Given the description of an element on the screen output the (x, y) to click on. 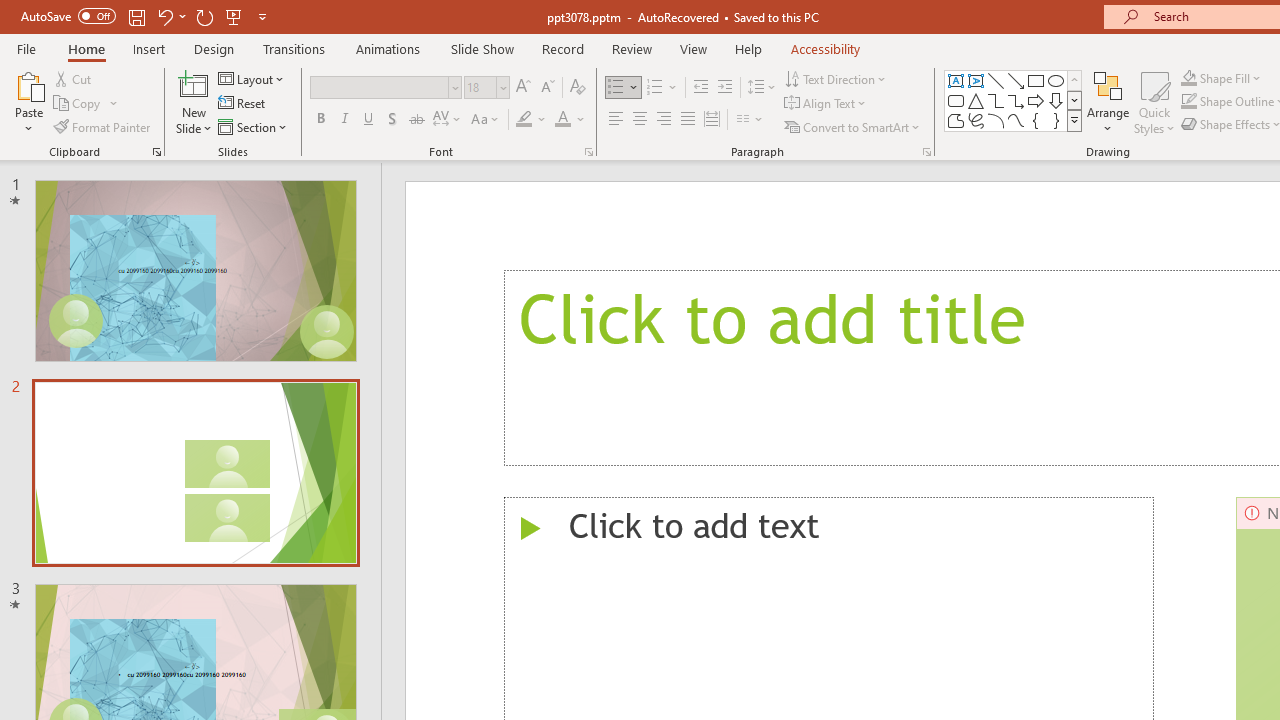
AutomationID: ShapesInsertGallery (1014, 100)
Text Highlight Color Yellow (524, 119)
Change Case (486, 119)
Shape Outline Green, Accent 1 (1188, 101)
Cut (73, 78)
Text Direction (836, 78)
Format Painter (103, 126)
Distributed (712, 119)
Shape Fill Dark Green, Accent 2 (1188, 78)
